Given the description of an element on the screen output the (x, y) to click on. 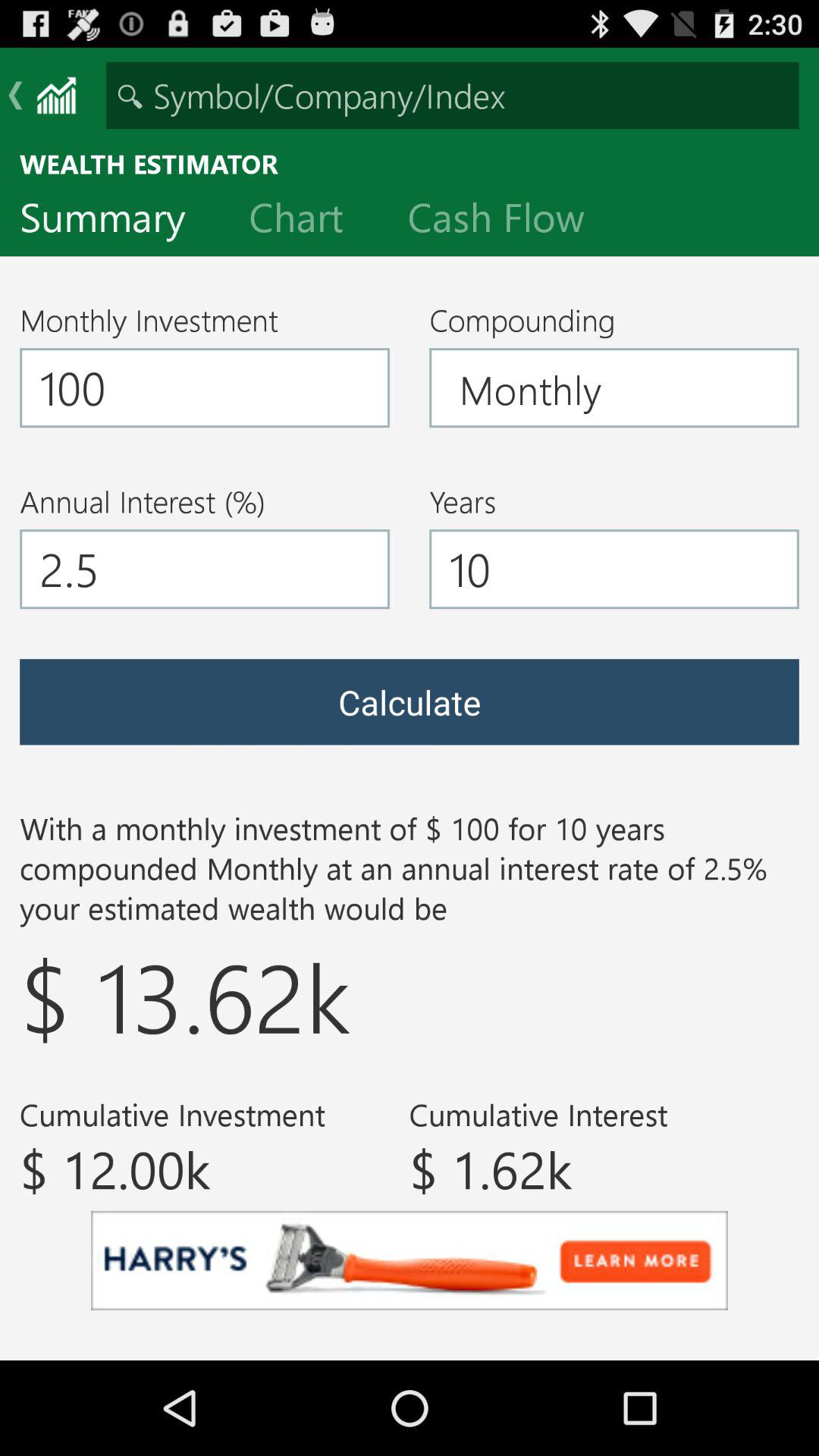
turn off icon below the wealth estimator item (114, 220)
